Given the description of an element on the screen output the (x, y) to click on. 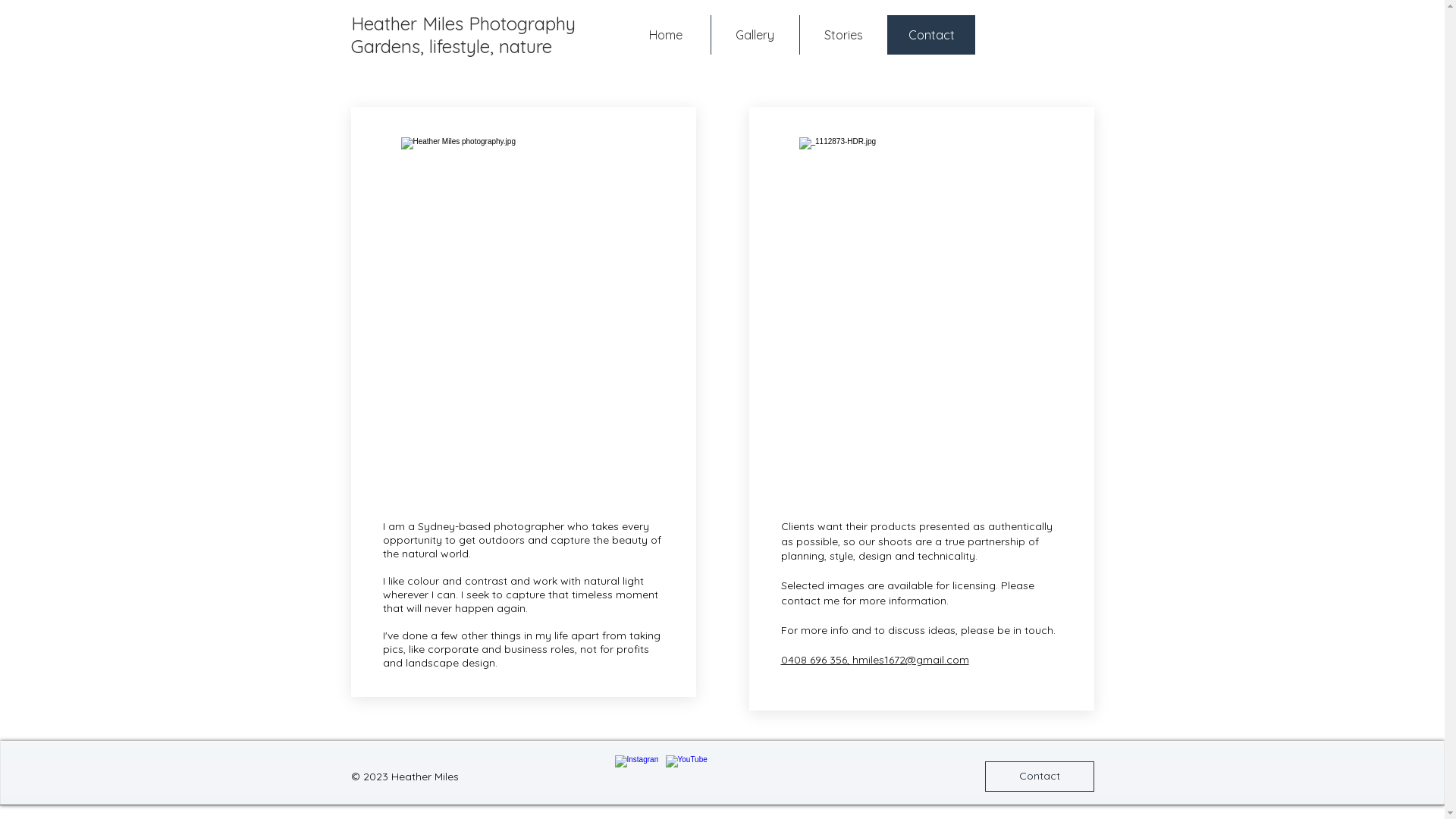
Contact Element type: text (1038, 776)
Home Element type: text (665, 34)
Gallery Element type: text (753, 34)
hmiles1672@gmail.com Element type: text (910, 659)
Contact Element type: text (931, 34)
0408 696 356,  Element type: text (816, 659)
Stories Element type: text (843, 34)
